Given the description of an element on the screen output the (x, y) to click on. 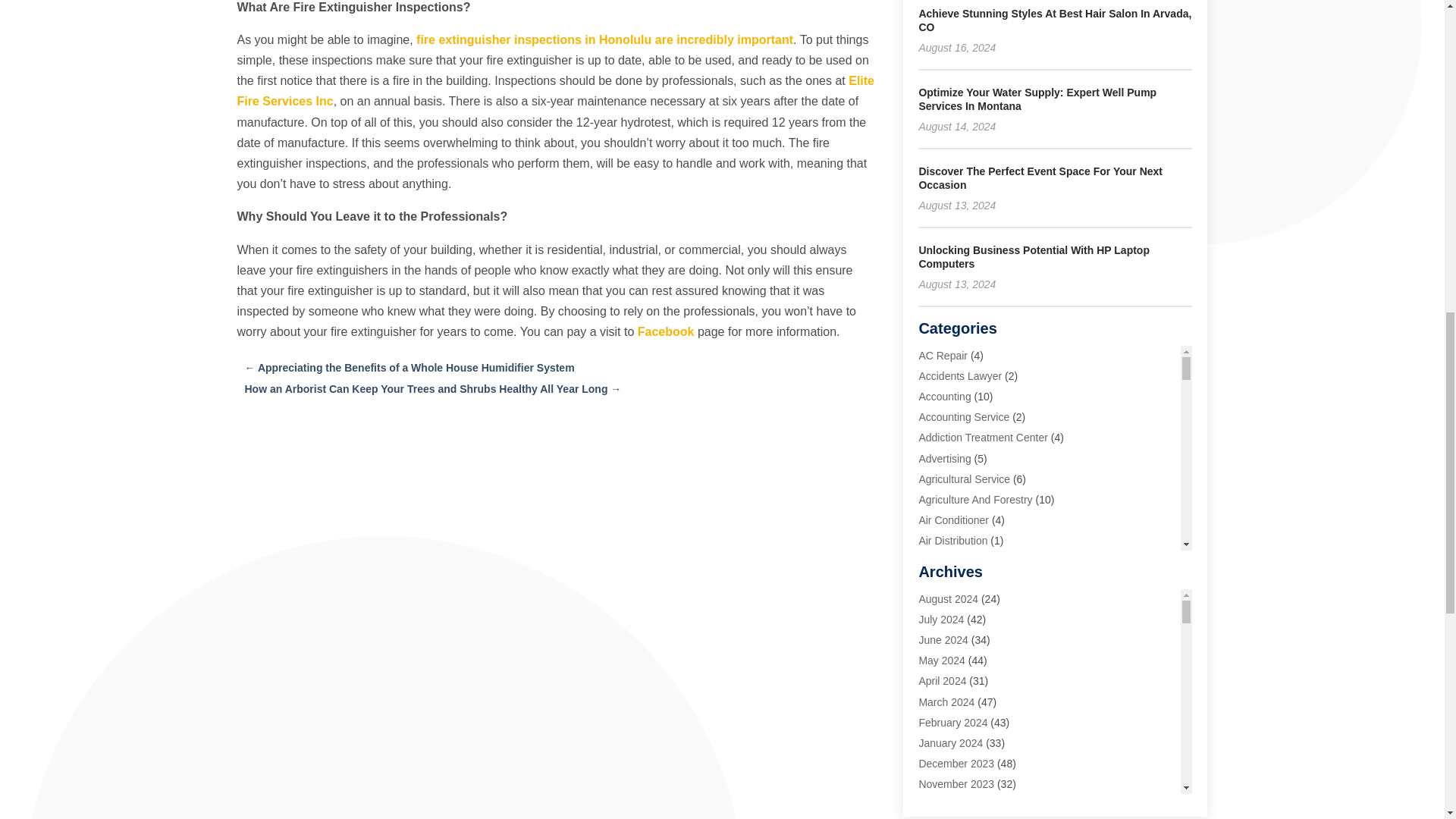
Air Distribution (952, 540)
Air Filters (940, 561)
Addiction Treatment Center (982, 437)
Advertising (944, 458)
Accidents Lawyer (959, 376)
Accounting Service (963, 417)
Agricultural Service (964, 479)
AC Repair (943, 355)
Elite Fire Services Inc (555, 90)
